Given the description of an element on the screen output the (x, y) to click on. 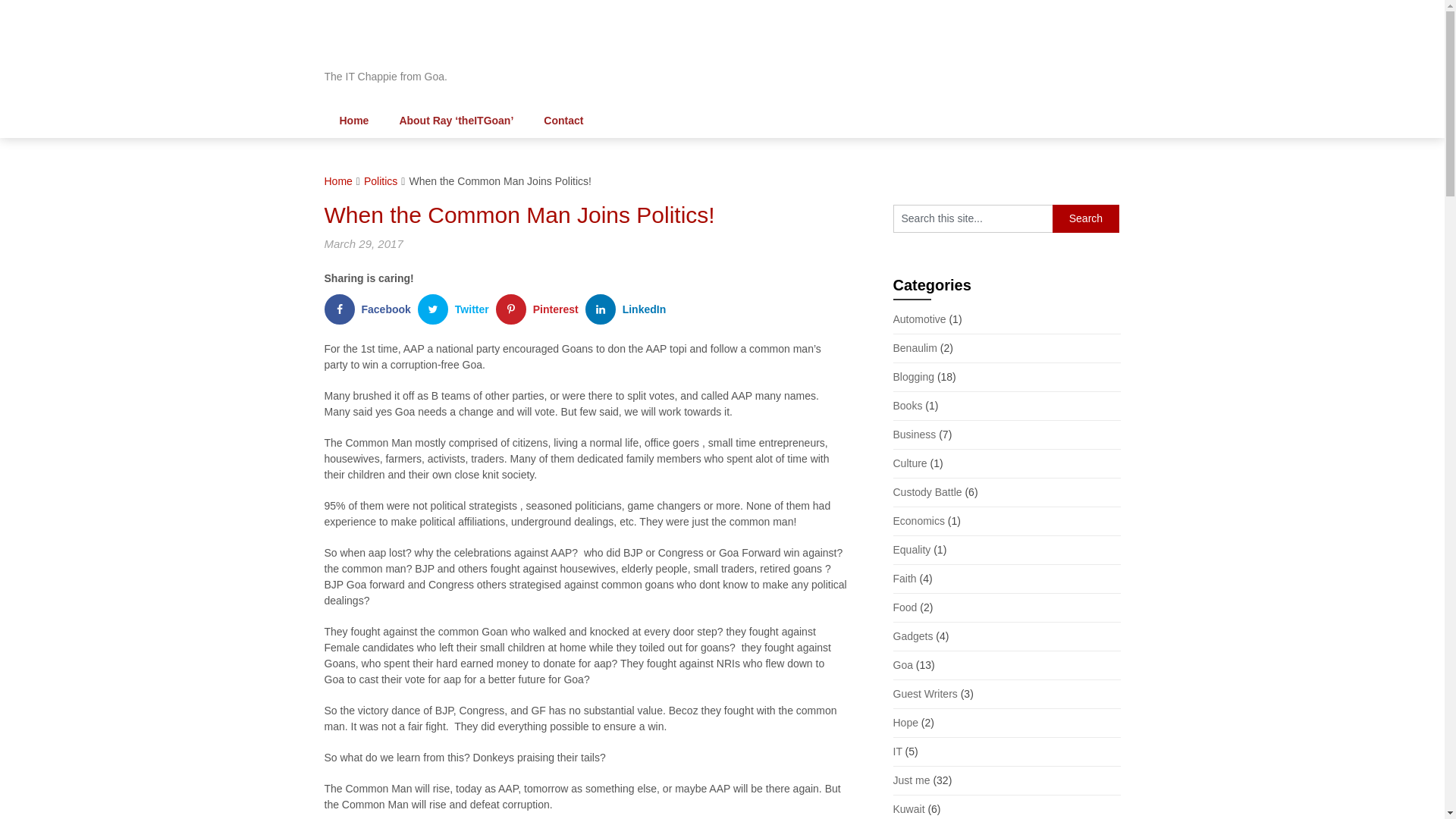
Food (905, 607)
Business (914, 434)
Blogging (913, 377)
Kuwait (908, 808)
Economics (918, 521)
Search (1085, 218)
Search this site... (972, 218)
Just me (911, 779)
Share on Twitter (456, 309)
Automotive (919, 318)
